Given the description of an element on the screen output the (x, y) to click on. 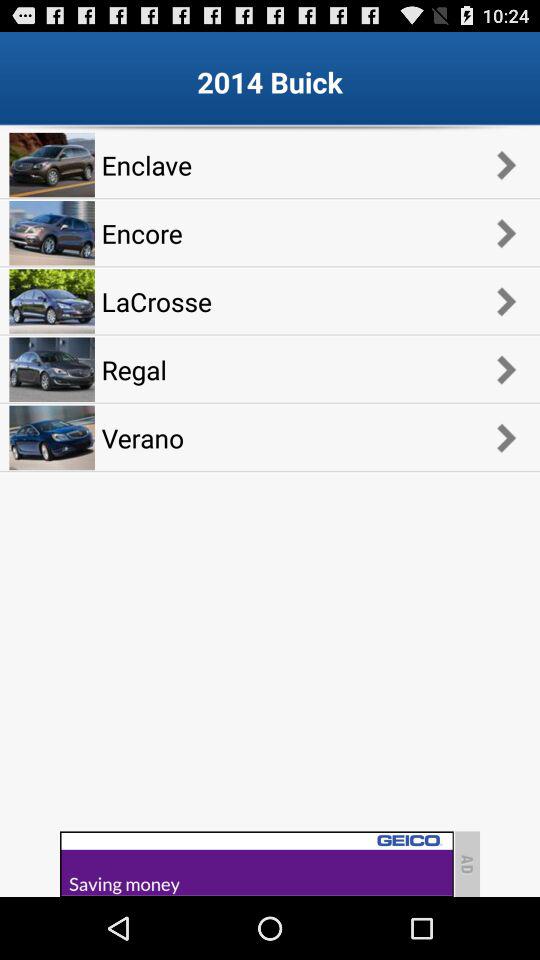
click the text ad (467, 863)
click on the fourth car image (52, 369)
click on the first image on the top (52, 164)
click on the image which is below regal (52, 437)
select the image beside lacrosse (52, 300)
click on 4th row greater symbol icon (505, 369)
